Given the description of an element on the screen output the (x, y) to click on. 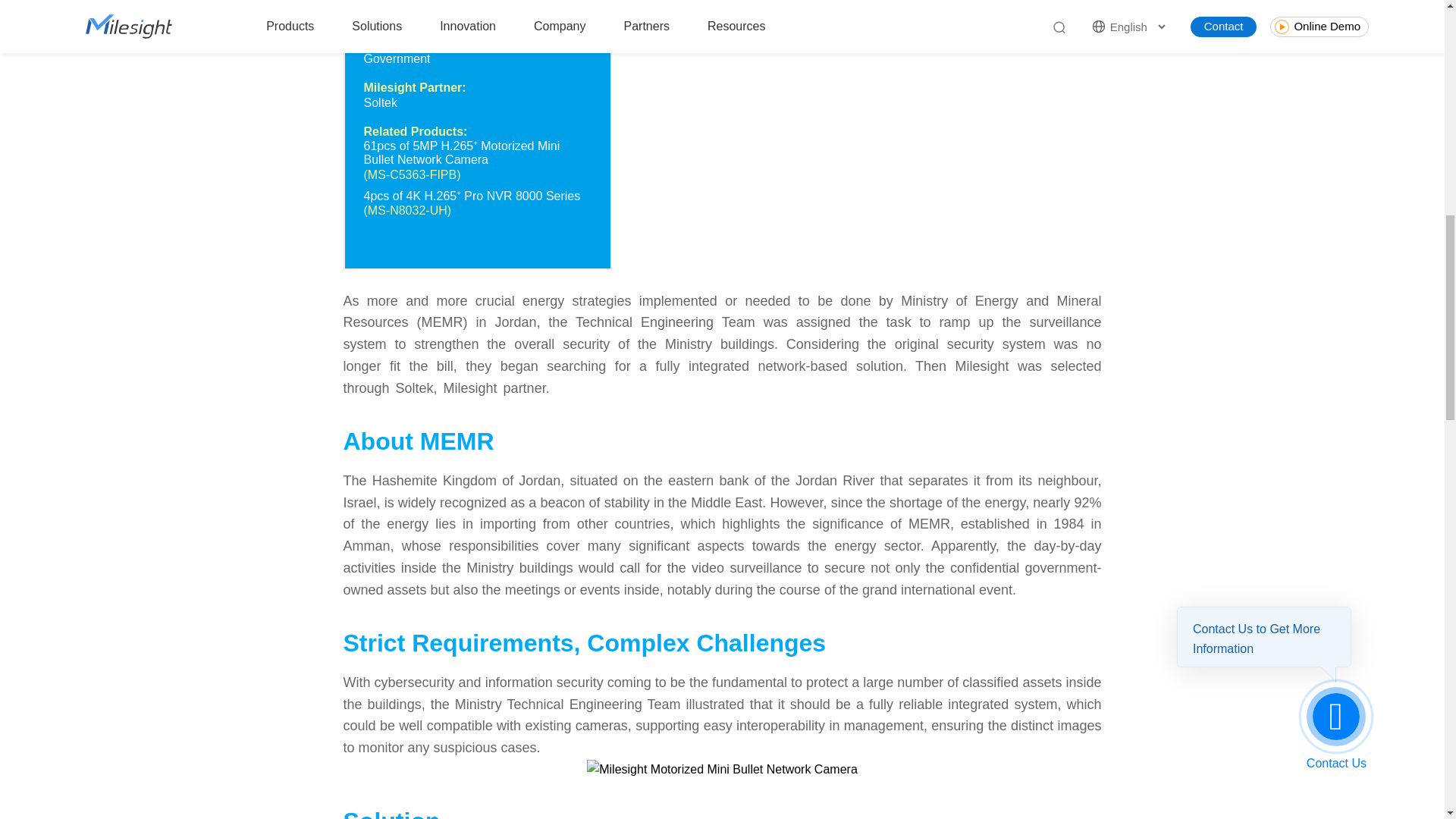
2 (721, 769)
